Given the description of an element on the screen output the (x, y) to click on. 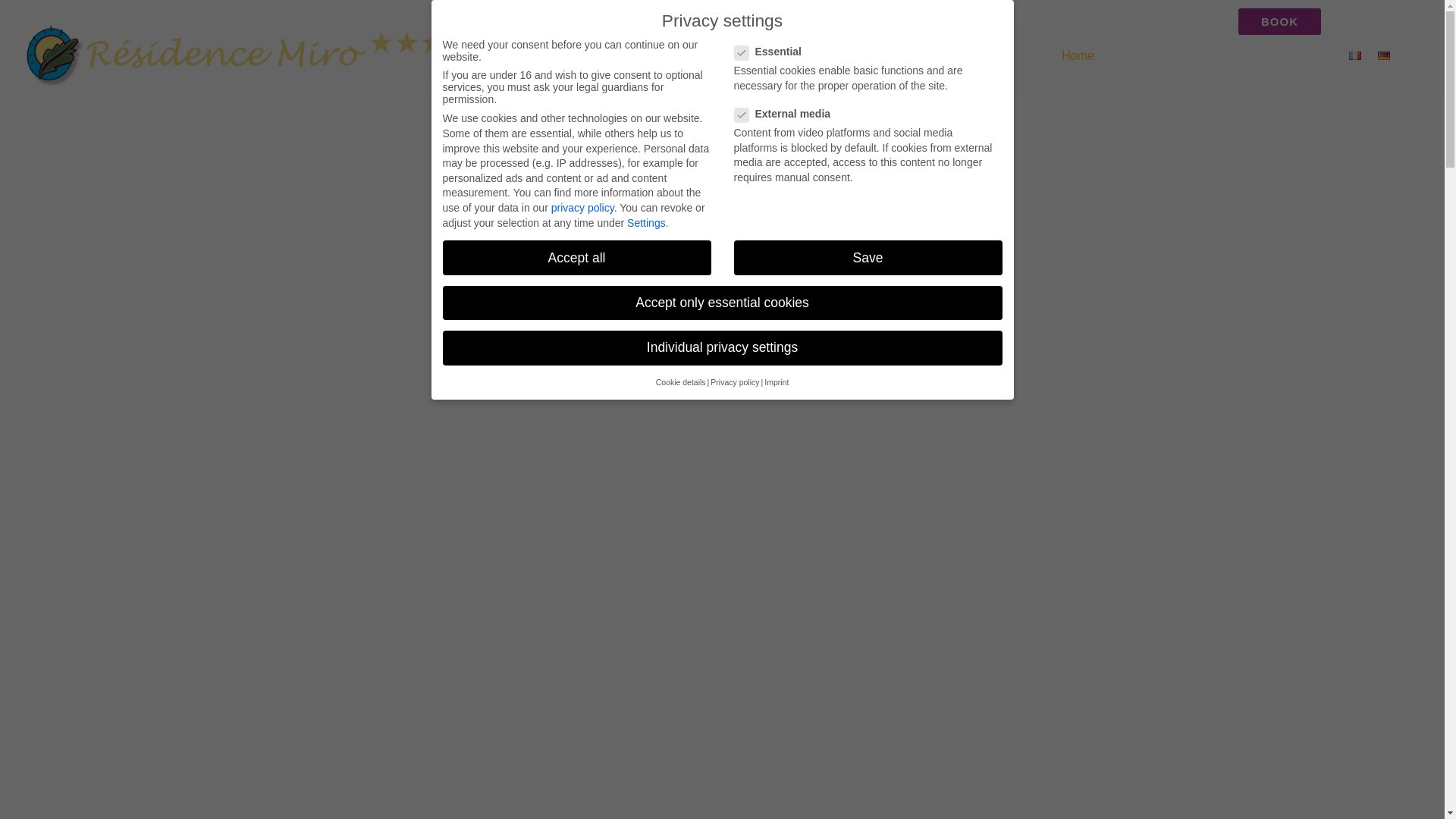
BOOK (1279, 21)
Apartments (1149, 69)
About us (1308, 69)
Activities (1236, 69)
